Given the description of an element on the screen output the (x, y) to click on. 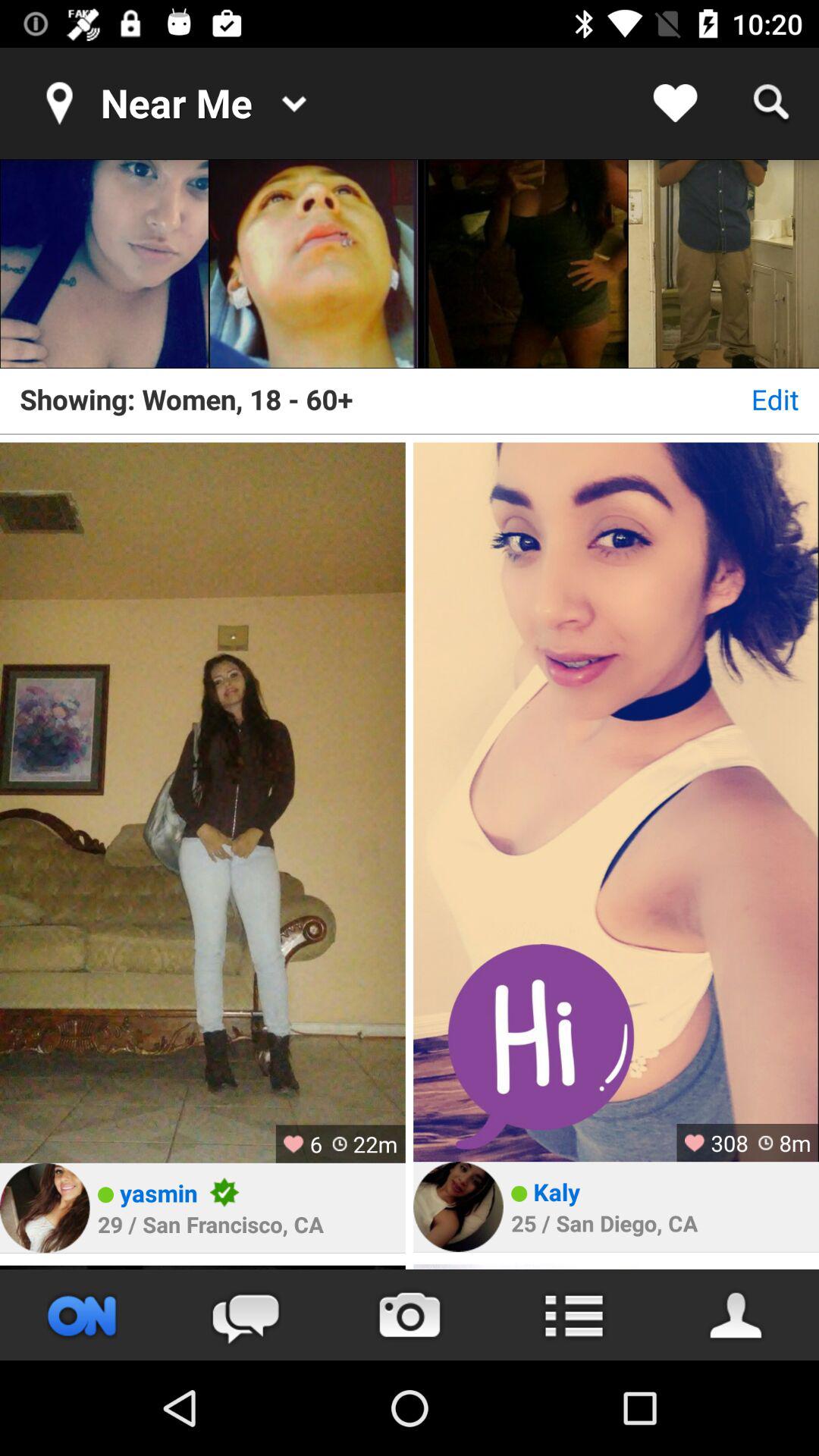
select the item below the near me icon (104, 263)
